Given the description of an element on the screen output the (x, y) to click on. 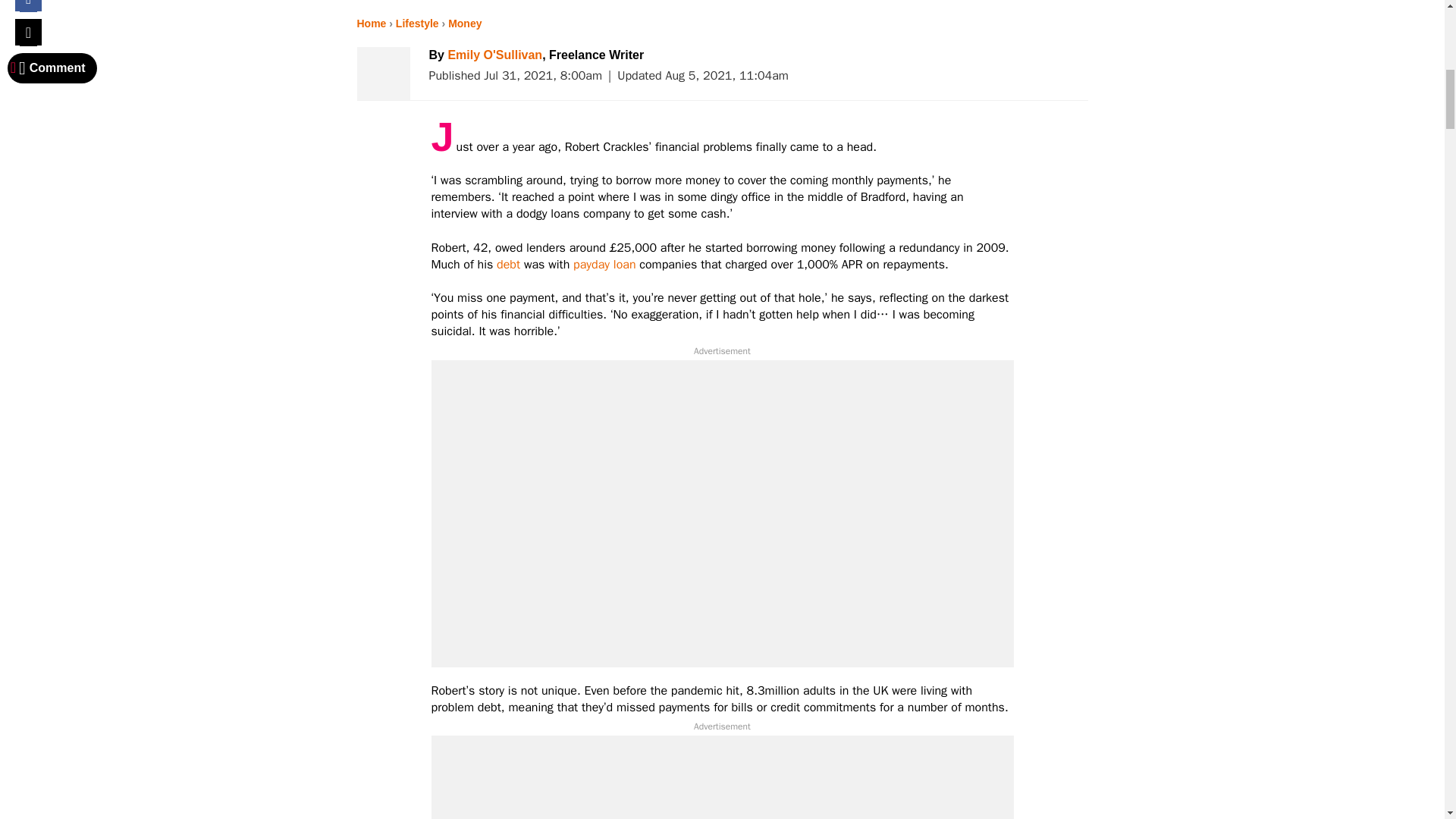
Comment (52, 68)
payday loan (606, 264)
Lifestyle (417, 23)
debt (510, 264)
Money (464, 23)
Emily O'Sullivan (493, 54)
Home (370, 23)
